Given the description of an element on the screen output the (x, y) to click on. 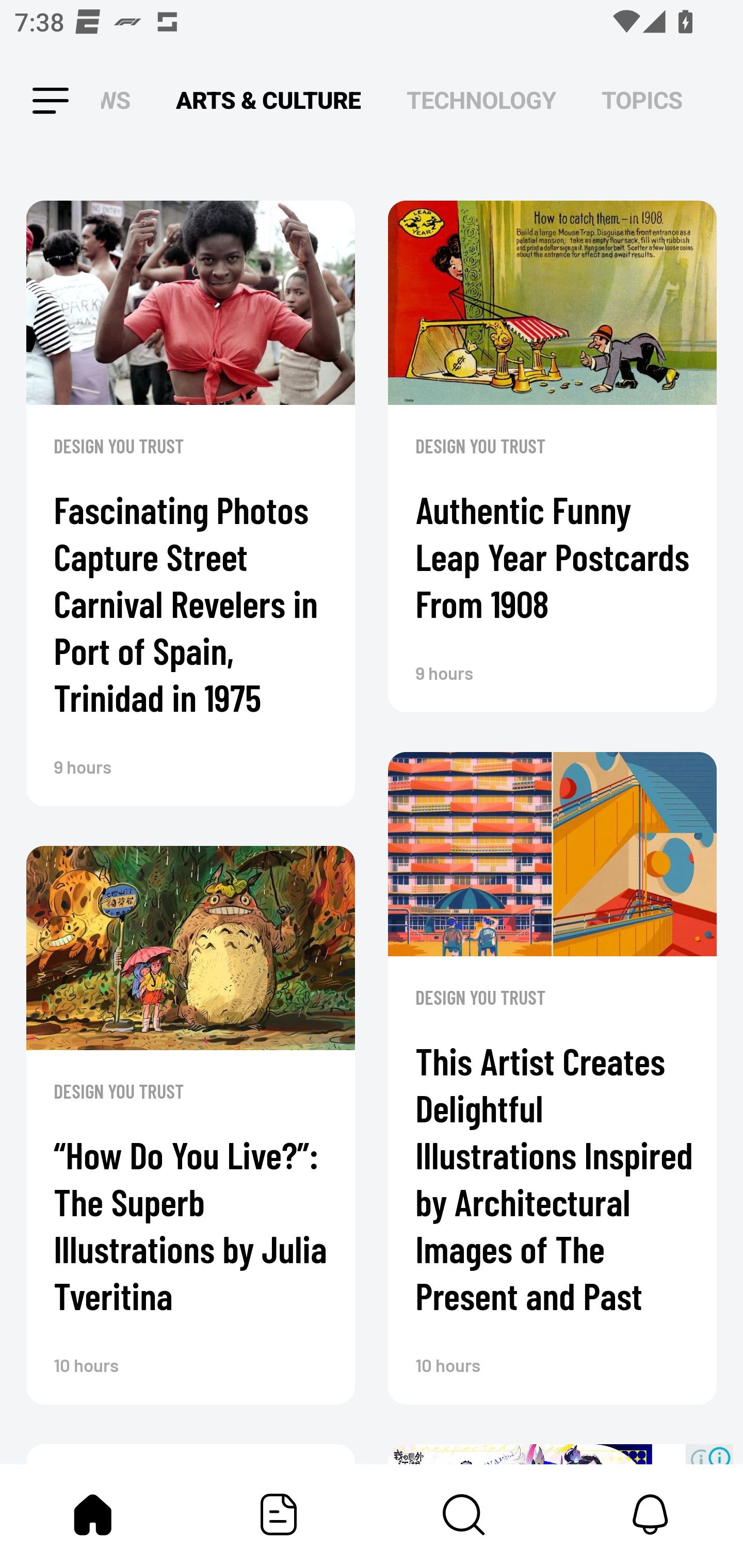
Leading Icon (32, 101)
NEWS (121, 100)
TECHNOLOGY (481, 100)
TOPICS (641, 100)
Featured (278, 1514)
Content Store (464, 1514)
Notifications (650, 1514)
